Given the description of an element on the screen output the (x, y) to click on. 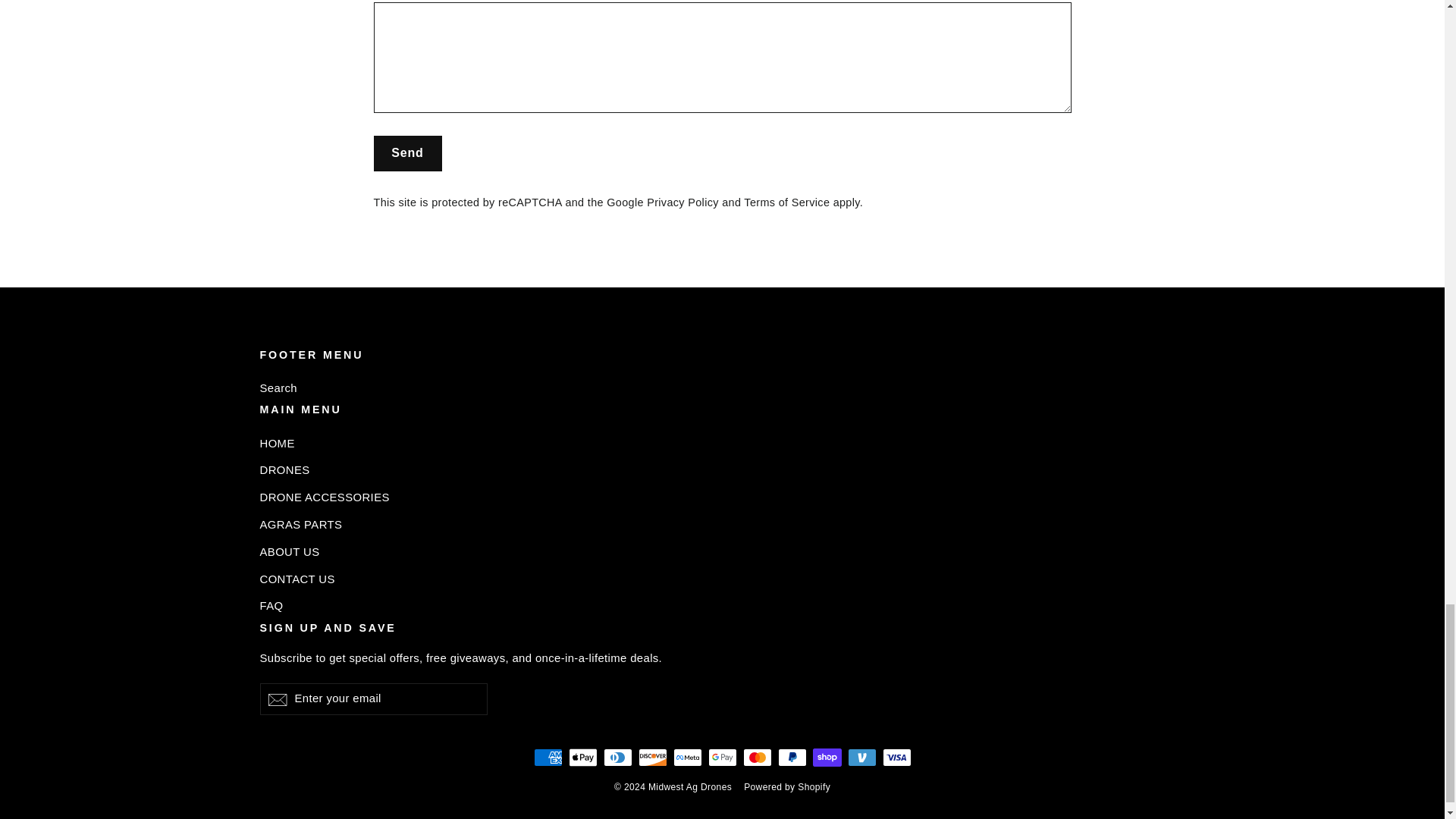
American Express (548, 757)
Meta Pay (686, 757)
Discover (652, 757)
Diners Club (617, 757)
Apple Pay (582, 757)
Google Pay (721, 757)
